Given the description of an element on the screen output the (x, y) to click on. 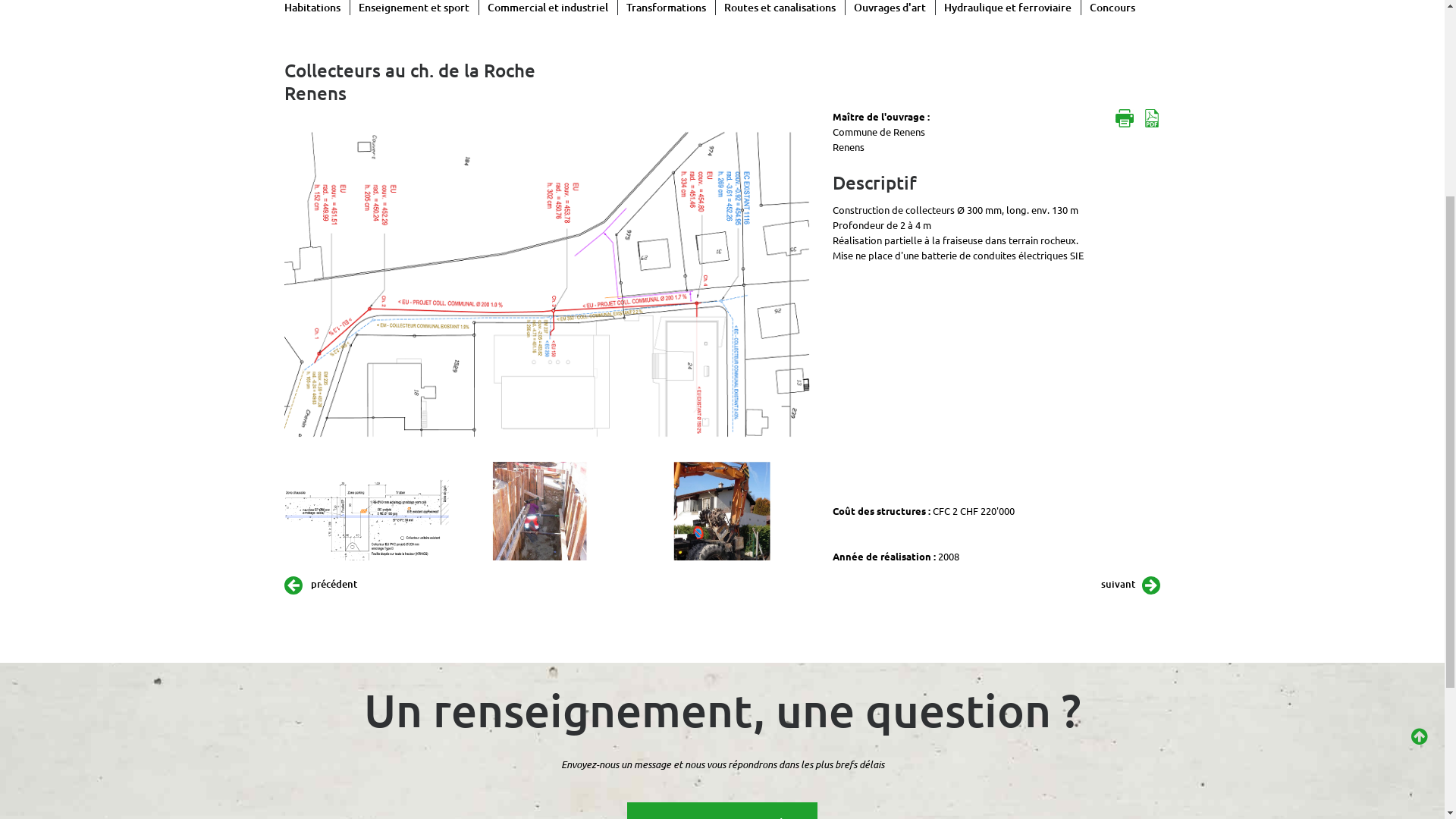
SOCIETE Element type: text (837, 55)
Hydraulique et ferroviaire Element type: text (1008, 316)
Routes et canalisations Element type: text (780, 316)
CONTACT Element type: text (1268, 55)
PRESTATIONS Element type: text (1057, 55)
Enseignement et sport Element type: text (414, 316)
Transformations Element type: text (666, 316)
ACCUEIL Element type: text (752, 55)
Ouvrages d'art Element type: text (889, 316)
REALISATIONS Element type: text (939, 55)
Commercial et industriel Element type: text (548, 316)
Habitations Element type: text (317, 316)
  Element type: text (1152, 427)
ACTUALITES Element type: text (1168, 55)
Concours Element type: text (1108, 316)
  Element type: text (1124, 427)
